Given the description of an element on the screen output the (x, y) to click on. 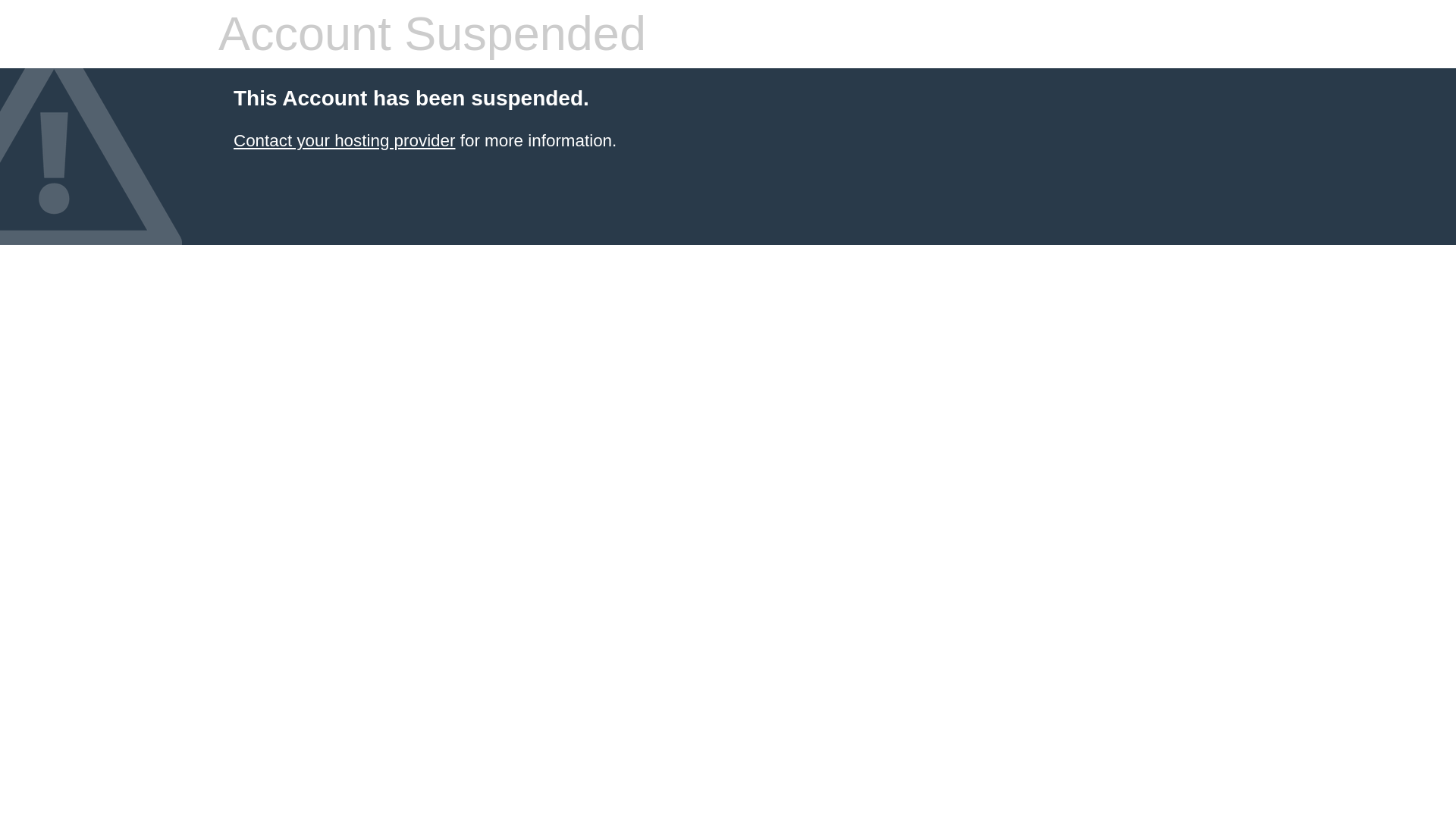
Contact your hosting provider (343, 140)
